Given the description of an element on the screen output the (x, y) to click on. 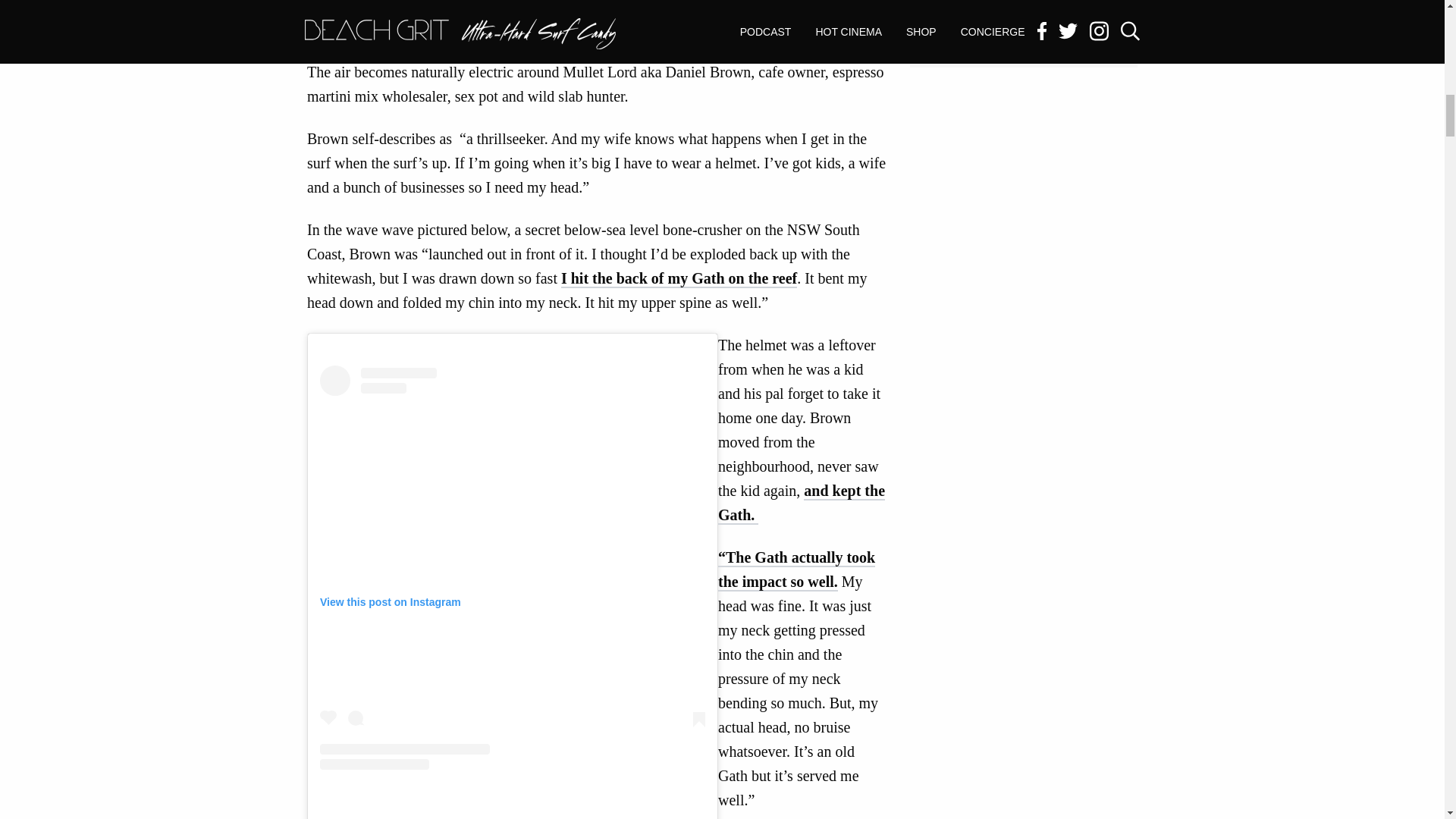
and kept the Gath.  (801, 503)
I hit the back of my Gath on the reef (678, 279)
